Given the description of an element on the screen output the (x, y) to click on. 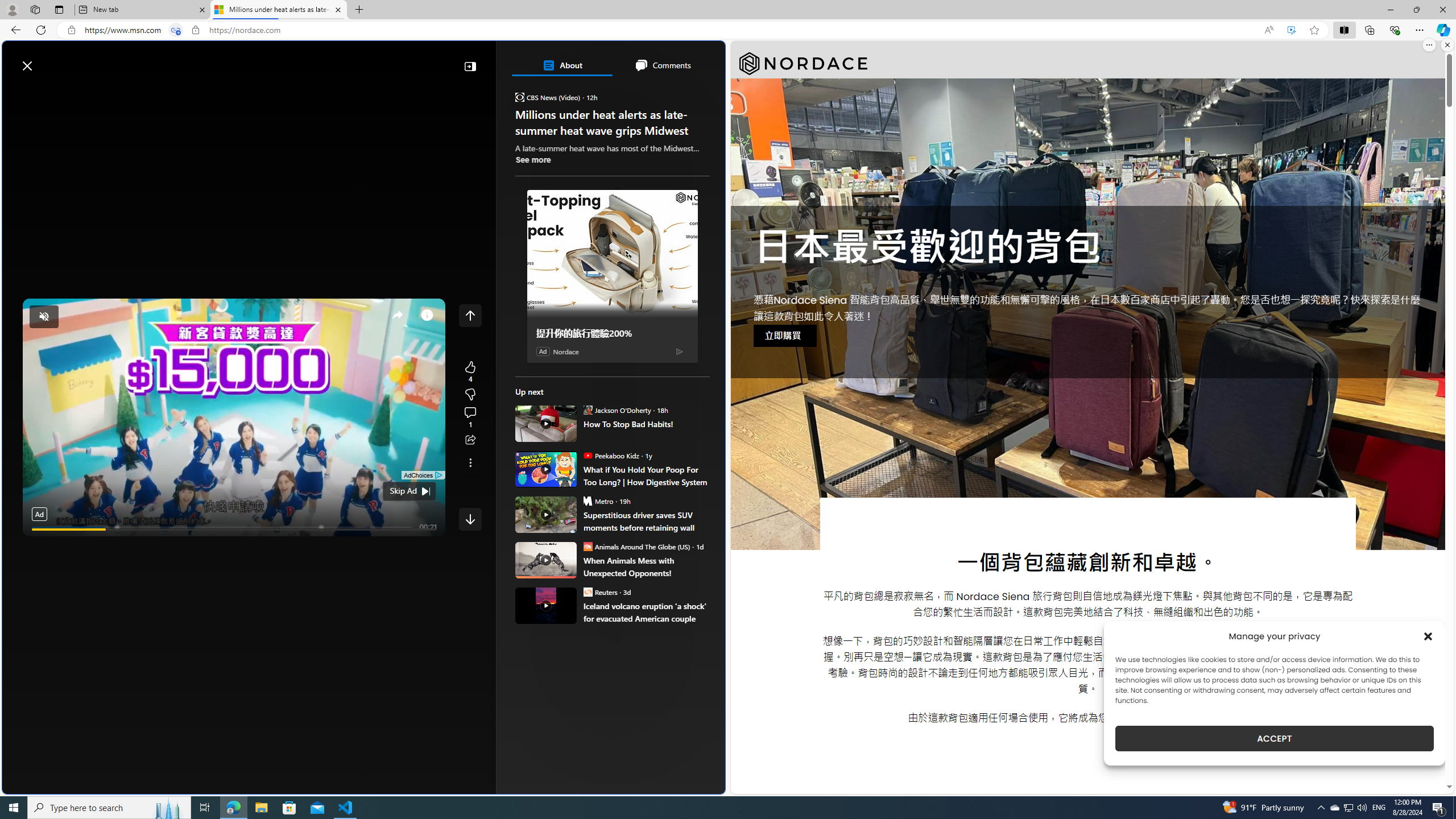
How To Stop Bad Habits! (646, 423)
Microsoft rewards (654, 60)
Class: button-glyph (16, 92)
More like this4Fewer like thisView comments (469, 394)
Skip to footer (46, 59)
Metro (587, 500)
Open settings (699, 60)
Comments (662, 64)
CBS News (Video) (519, 96)
